Given the description of an element on the screen output the (x, y) to click on. 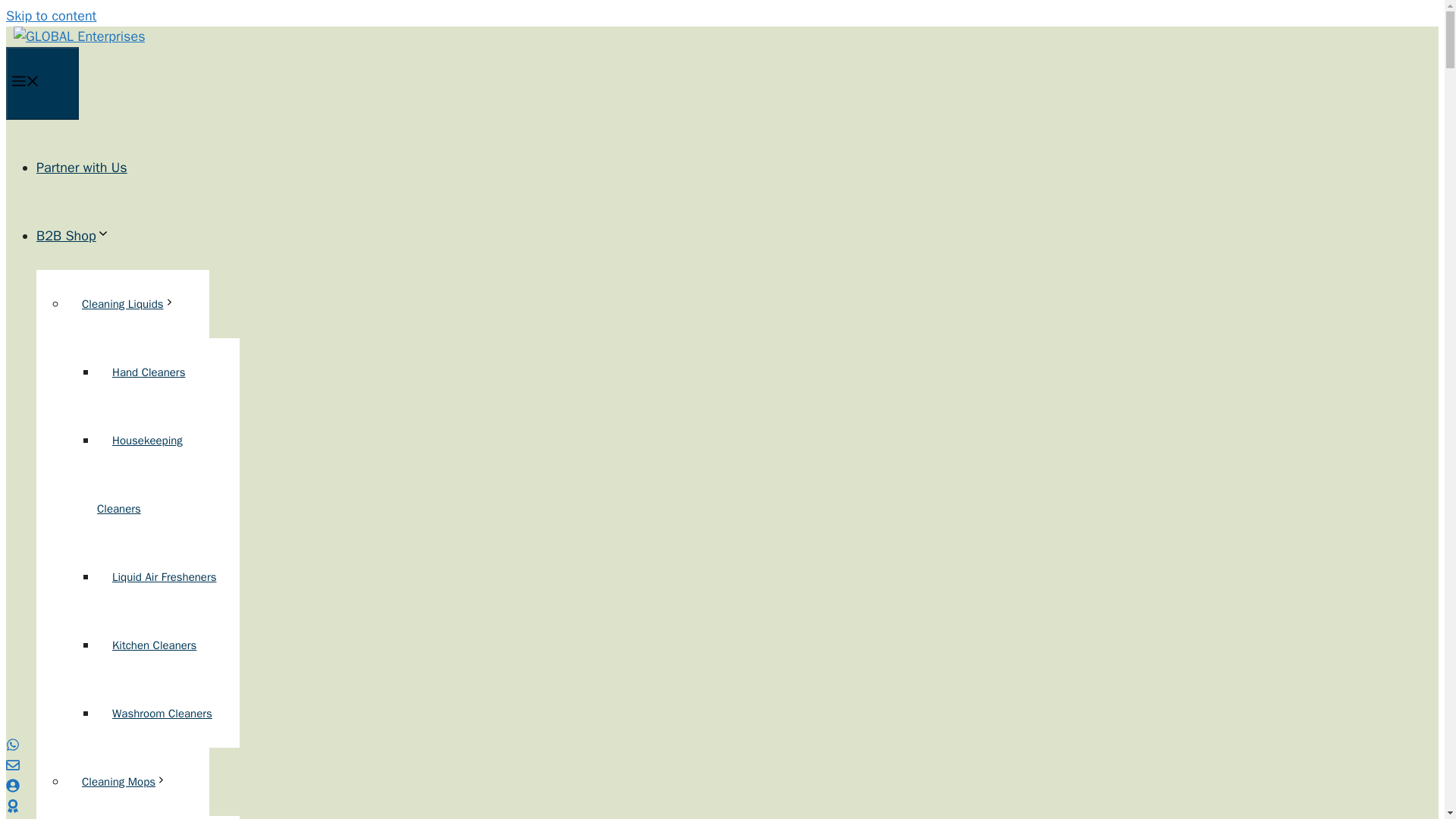
Hand Cleaners (148, 371)
Skip to content (50, 15)
Washroom Cleaners (162, 713)
Kitchen Cleaners (154, 645)
Partner with Us (82, 167)
Cleaning Liquids (128, 303)
GLOBAL Enterprises (78, 36)
Liquid Air Fresheners (164, 576)
Housekeeping Cleaners (140, 474)
Cleaning Mops (124, 781)
GLOBAL Enterprises (78, 36)
Menu (41, 82)
Skip to content (50, 15)
B2B Shop (73, 235)
